Given the description of an element on the screen output the (x, y) to click on. 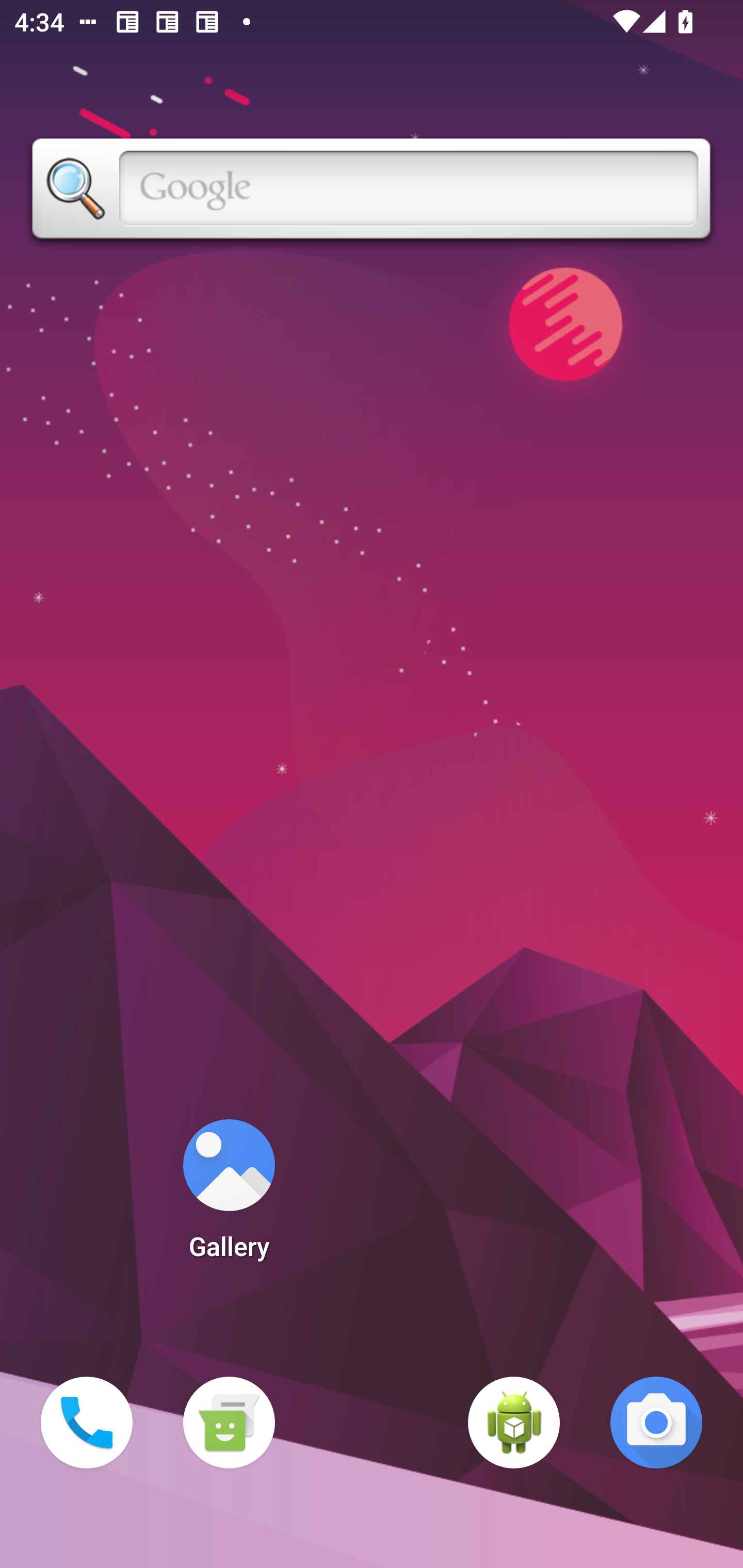
Gallery (228, 1195)
Phone (86, 1422)
Messaging (228, 1422)
WebView Browser Tester (513, 1422)
Camera (656, 1422)
